Given the description of an element on the screen output the (x, y) to click on. 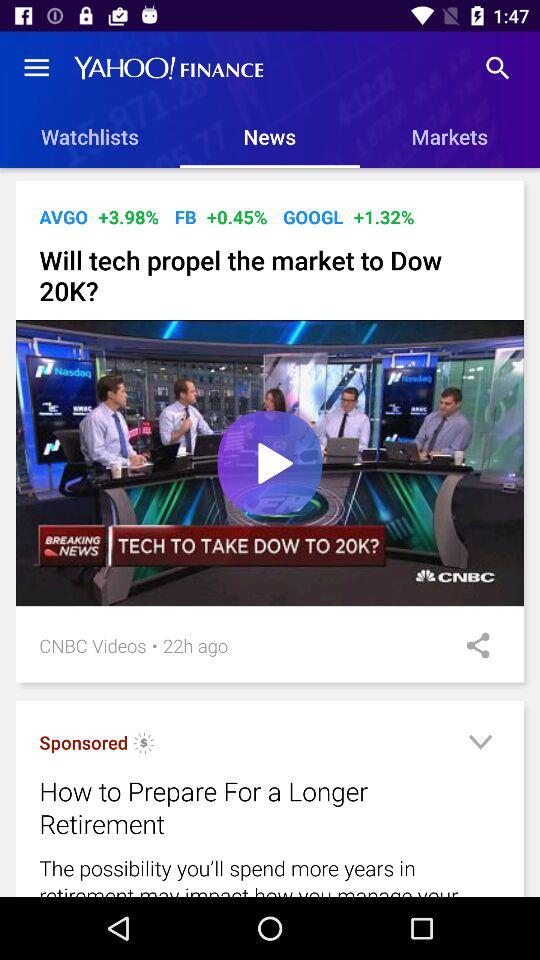
turn on icon above the watchlists (36, 68)
